Given the description of an element on the screen output the (x, y) to click on. 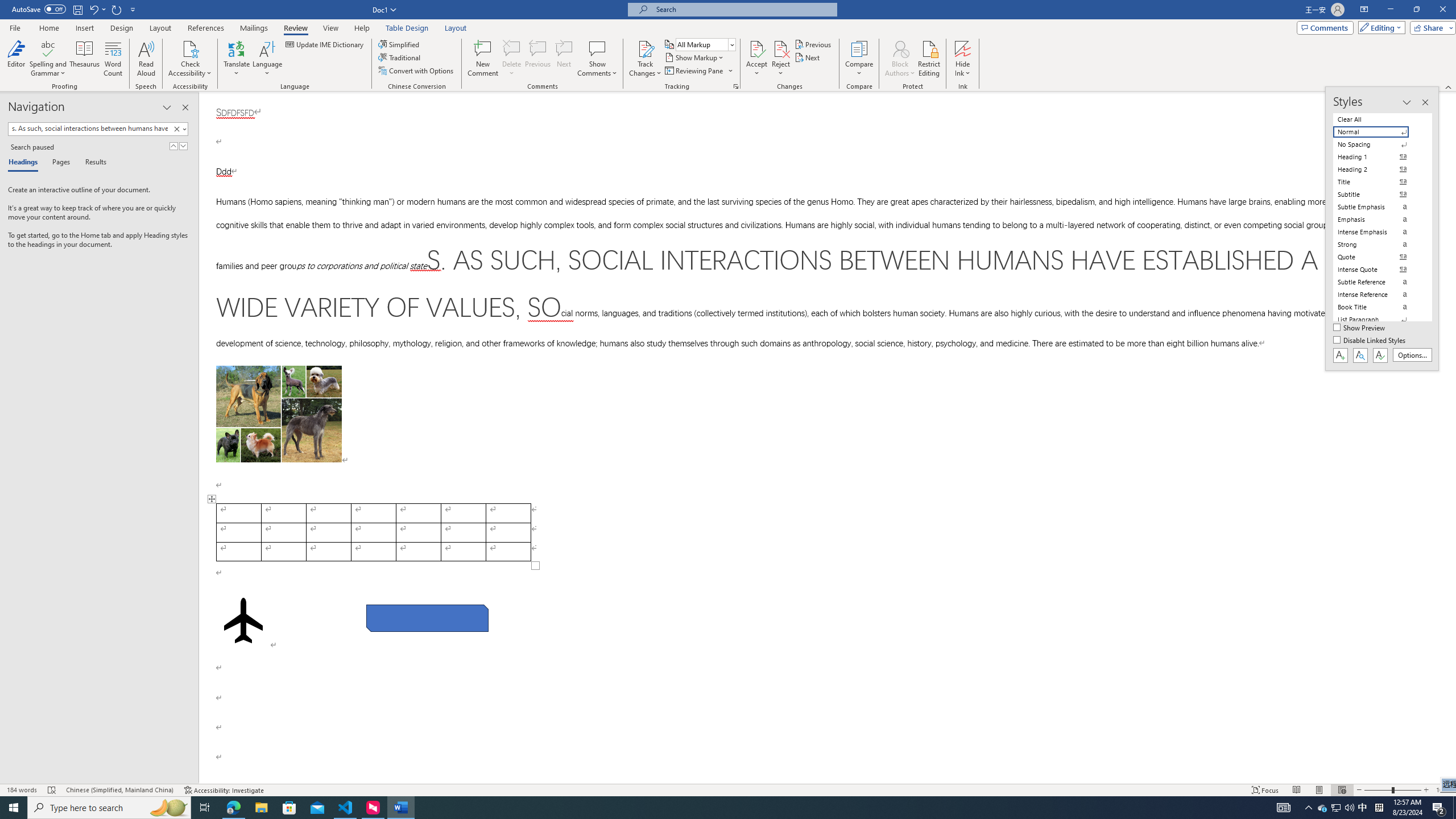
Airplane with solid fill (242, 619)
Read Aloud (145, 58)
